Given the description of an element on the screen output the (x, y) to click on. 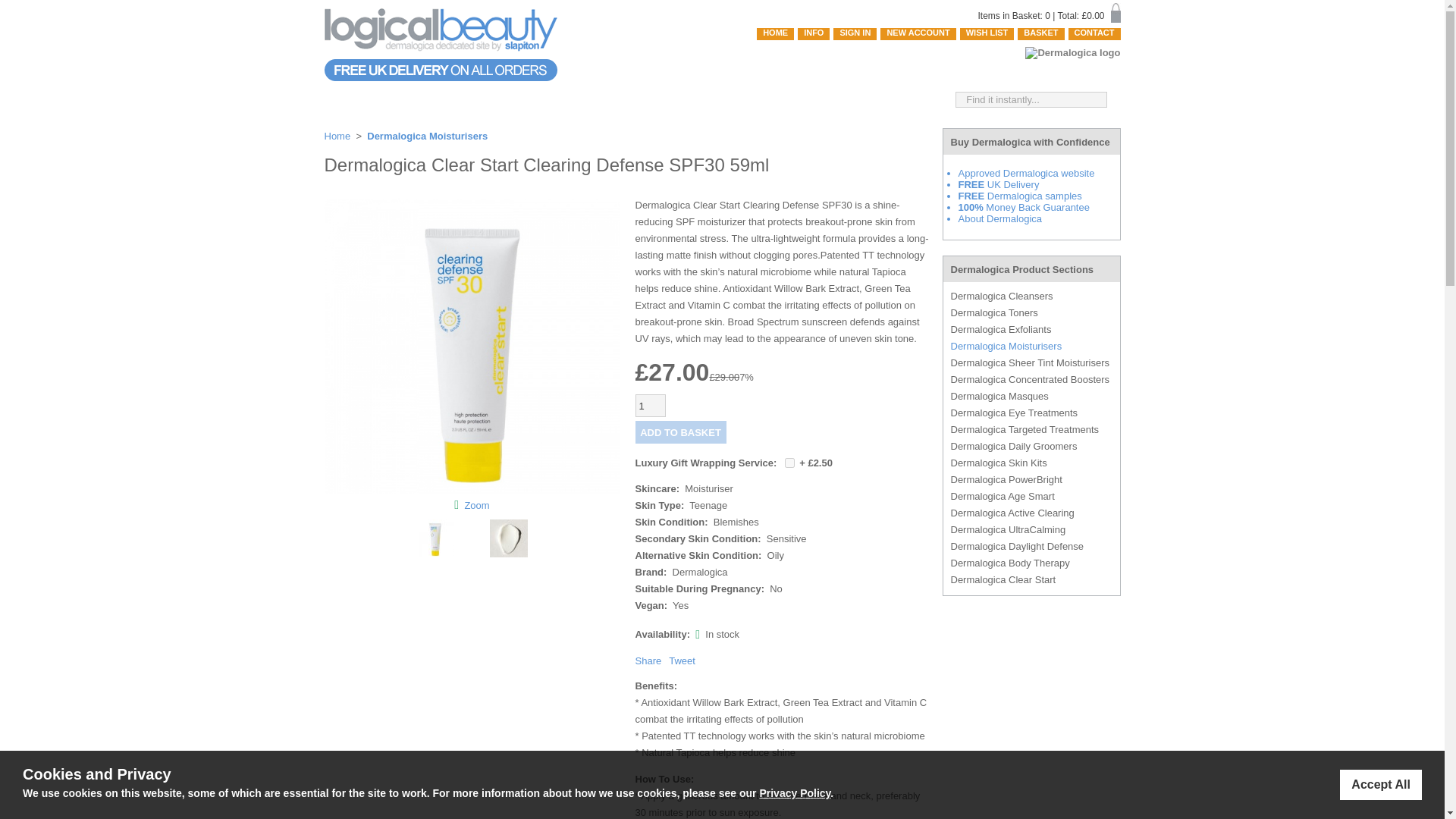
1 (649, 404)
Dermalogica Exfoliants (1031, 329)
Zoom (476, 504)
Share (648, 660)
Dermalogica Moisturisers (426, 135)
Zoom (472, 346)
1 (789, 462)
Dermalogica Cleansers (1031, 295)
Dermalogica Masques (1031, 395)
Dermalogica Toners (1031, 312)
Dermalogica Clear Start Clearing Defense SPF30 59ml (472, 490)
Dermalogica Targeted Treatments (1031, 428)
Home (337, 135)
Dermalogica Concentrated Boosters (1031, 379)
ADD TO BASKET (680, 431)
